Given the description of an element on the screen output the (x, y) to click on. 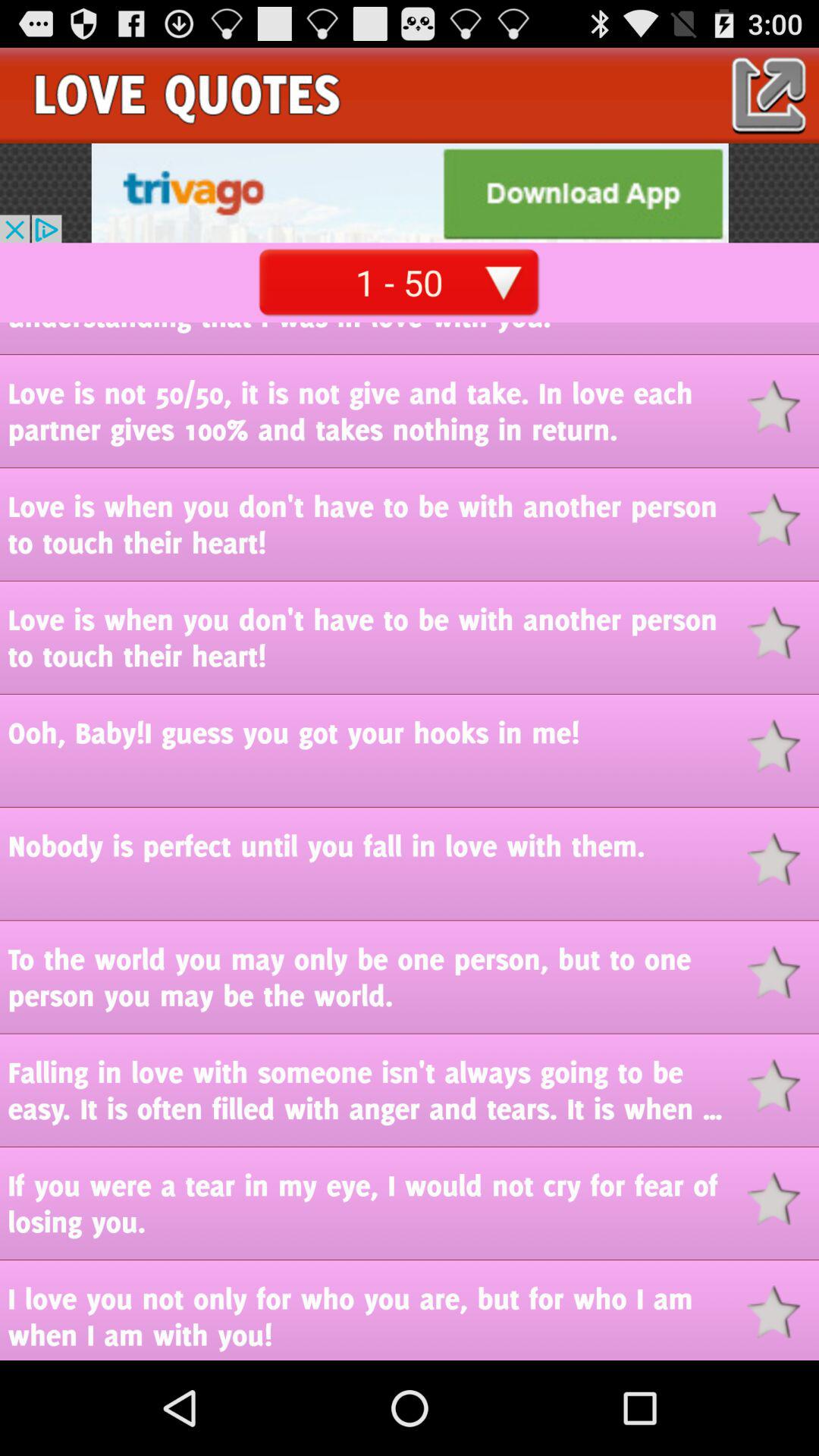
favorite quote (783, 632)
